Given the description of an element on the screen output the (x, y) to click on. 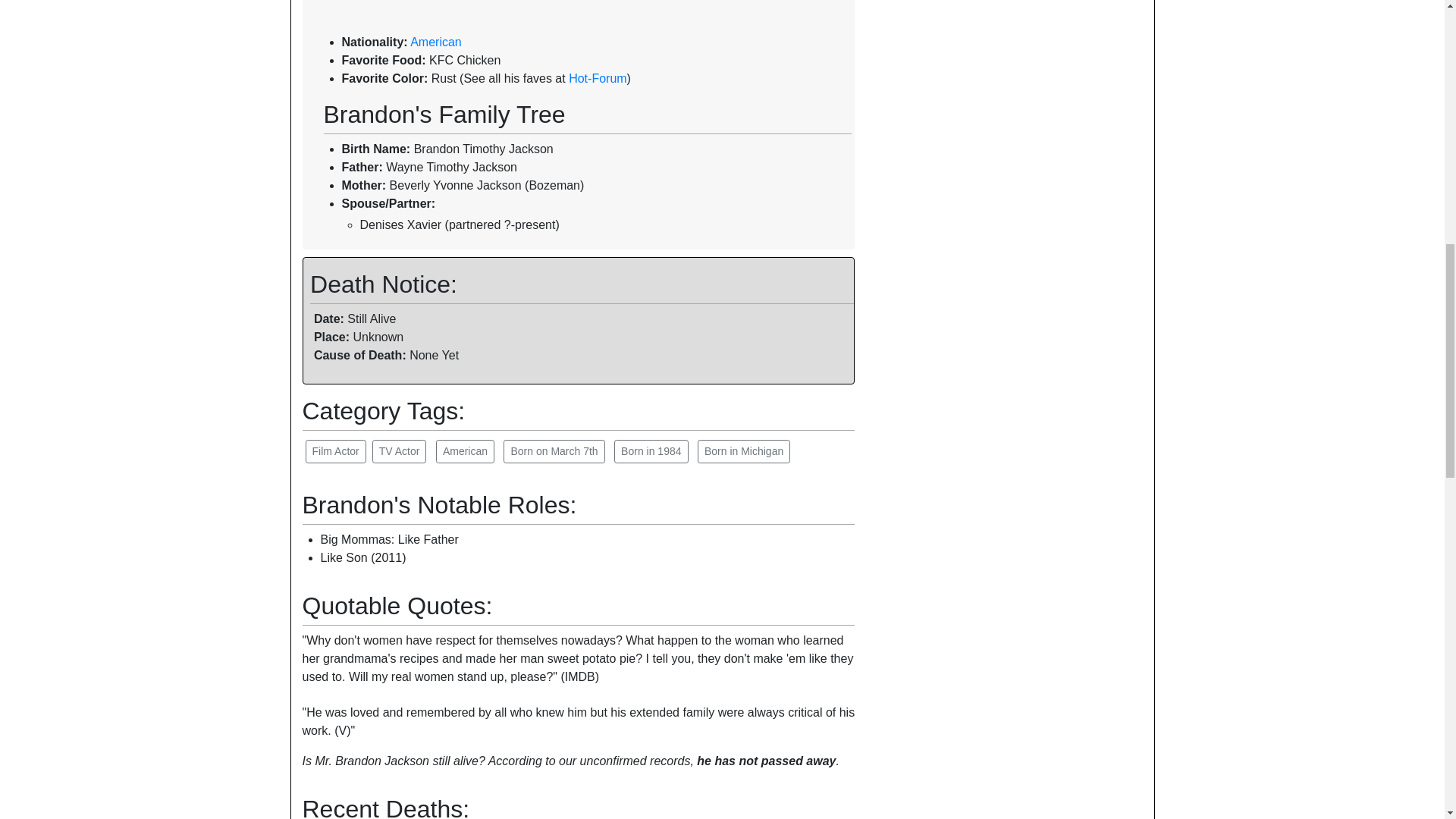
Film Actor (334, 451)
Born in 1984 (650, 451)
TV Actor (399, 451)
American (435, 42)
He was American (465, 451)
Brandon was a Film Actor (334, 451)
Hot-Forum (597, 78)
Born on March 7th (553, 451)
American (465, 451)
Born in Michigan (743, 451)
